Given the description of an element on the screen output the (x, y) to click on. 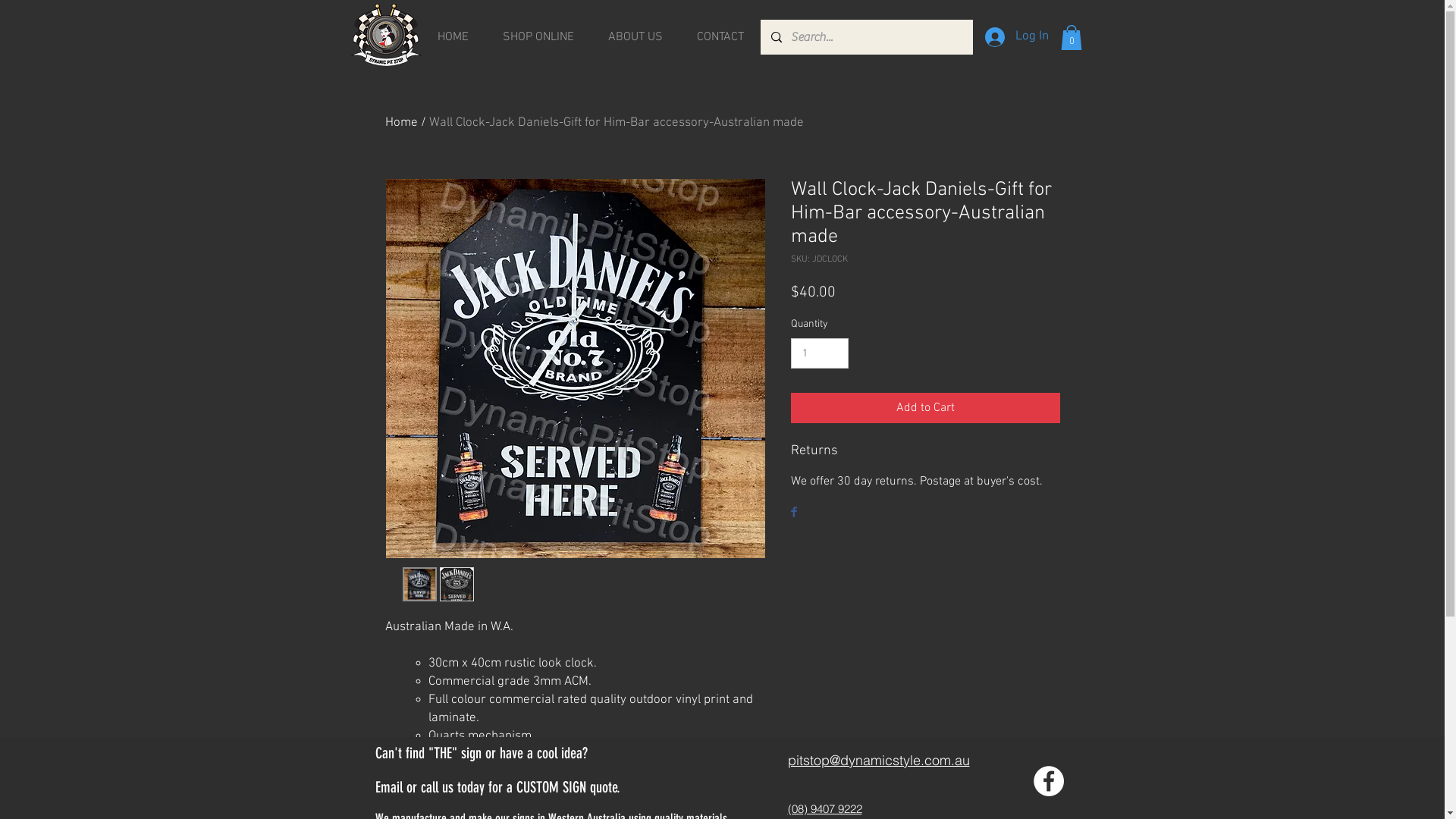
Home Element type: text (401, 122)
Add to Cart Element type: text (924, 407)
CONTACT Element type: text (719, 37)
SHOP ONLINE Element type: text (537, 37)
HOME Element type: text (452, 37)
pitstop@dynamicstyle.com.au Element type: text (878, 759)
ABOUT US Element type: text (635, 37)
(08) 9407 9222 Element type: text (824, 808)
Log In Element type: text (1015, 36)
0 Element type: text (1070, 37)
